Given the description of an element on the screen output the (x, y) to click on. 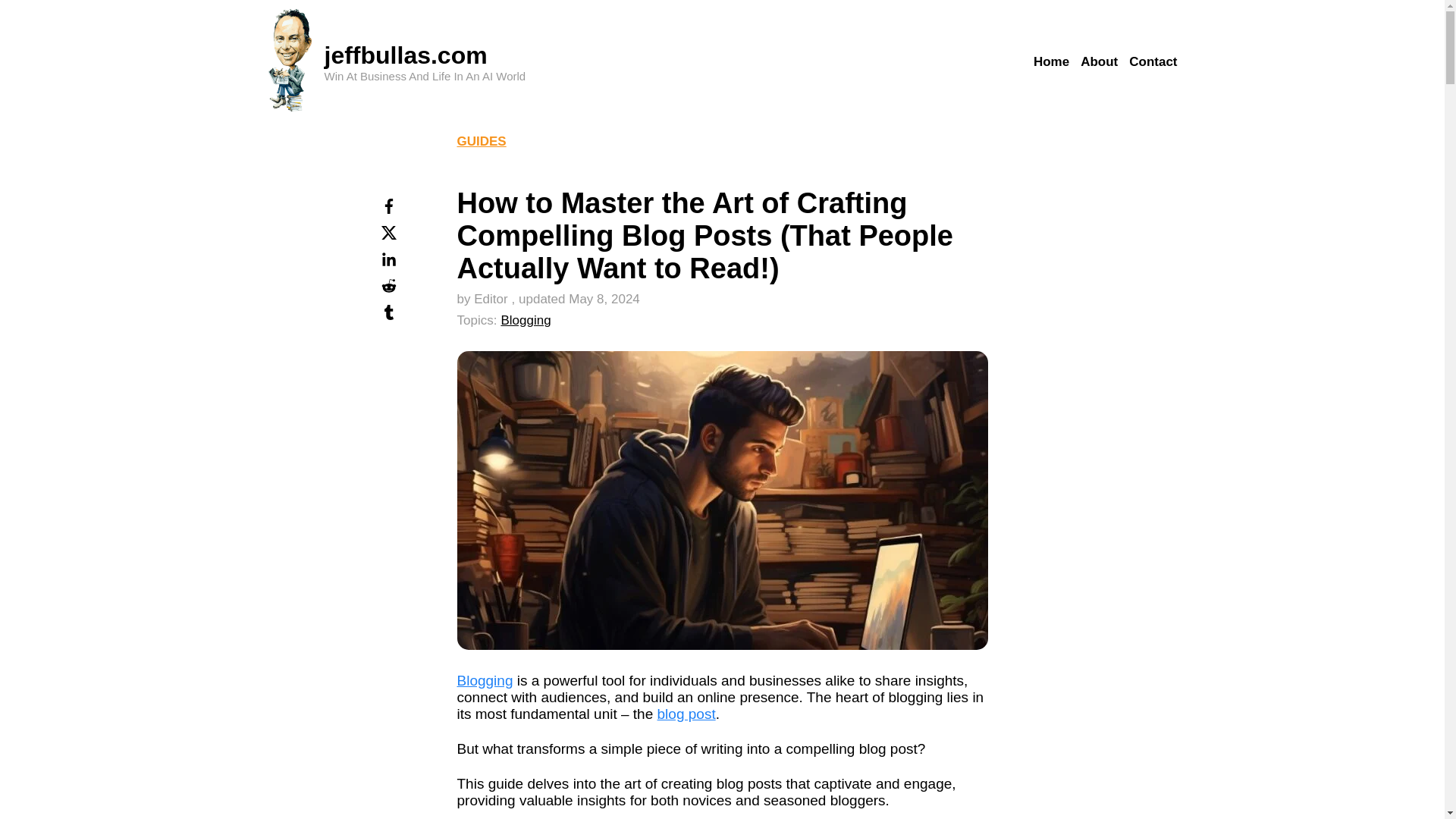
Home (1050, 61)
Blogging (525, 319)
Blogging (484, 680)
Contact (1152, 61)
jeffbullas.com (405, 53)
blog post (687, 713)
GUIDES (481, 141)
About (1099, 61)
